Given the description of an element on the screen output the (x, y) to click on. 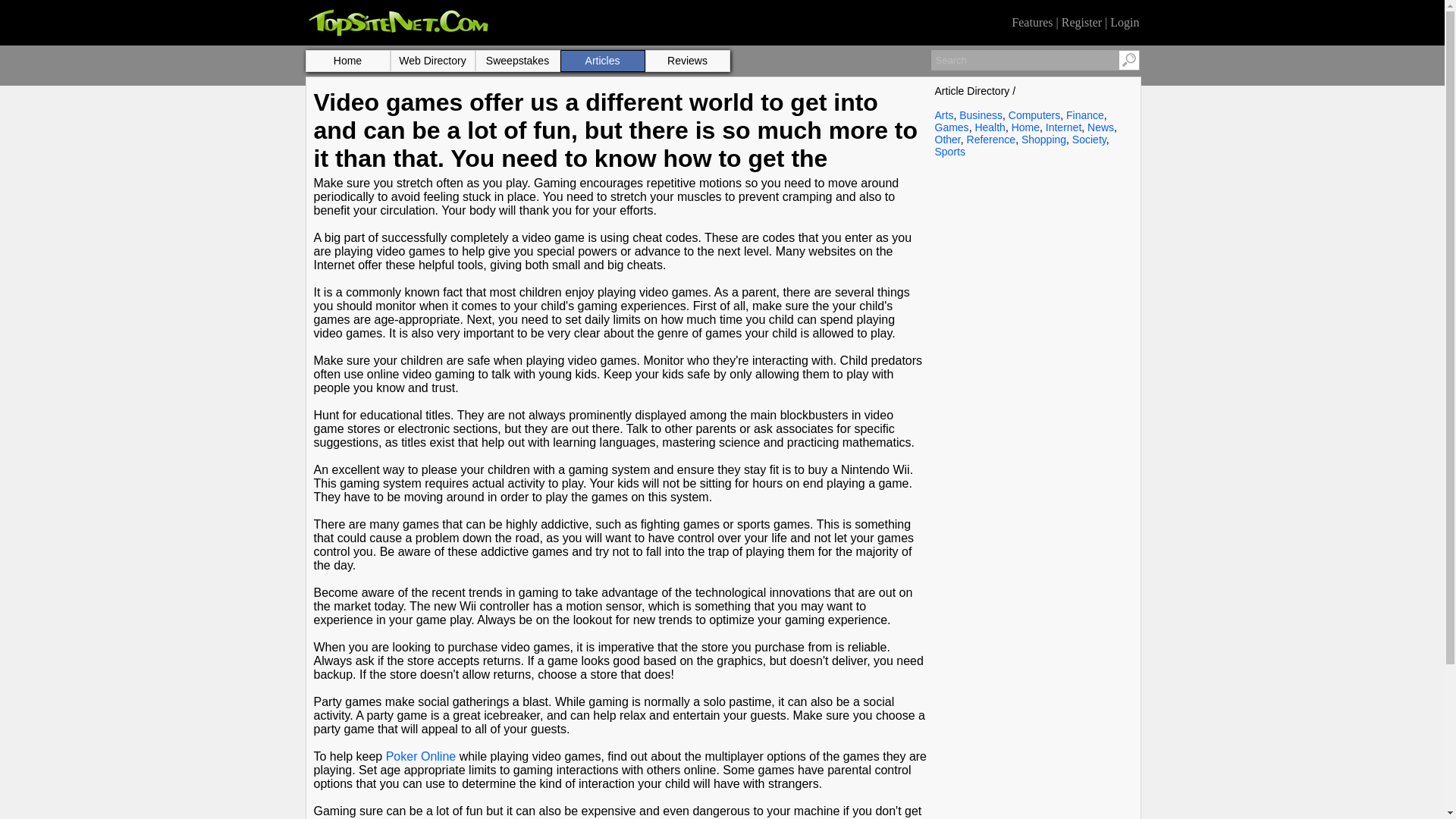
Games (951, 127)
Articles (602, 60)
Health (989, 127)
Top Site Net (397, 34)
Finance (1084, 114)
Home (1025, 127)
Internet (1063, 127)
Sports (948, 151)
Login (1123, 21)
Business (981, 114)
